Given the description of an element on the screen output the (x, y) to click on. 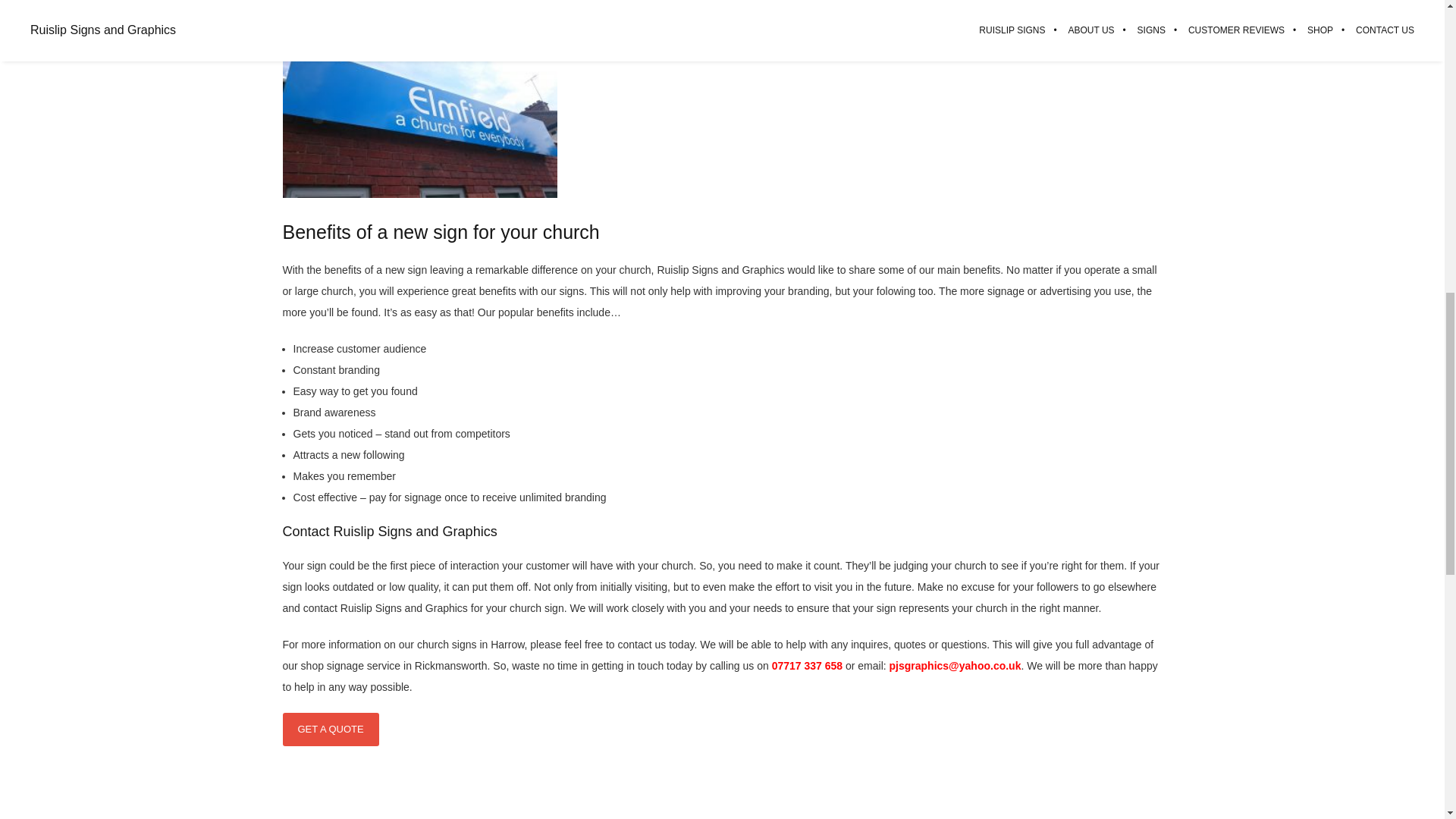
GET A QUOTE (330, 729)
Email Ruislip Signs and Graphics (955, 665)
07717 337 658 (807, 665)
Get a Quote (330, 729)
Call Ruislip Signs and Graphics Today (807, 665)
